Given the description of an element on the screen output the (x, y) to click on. 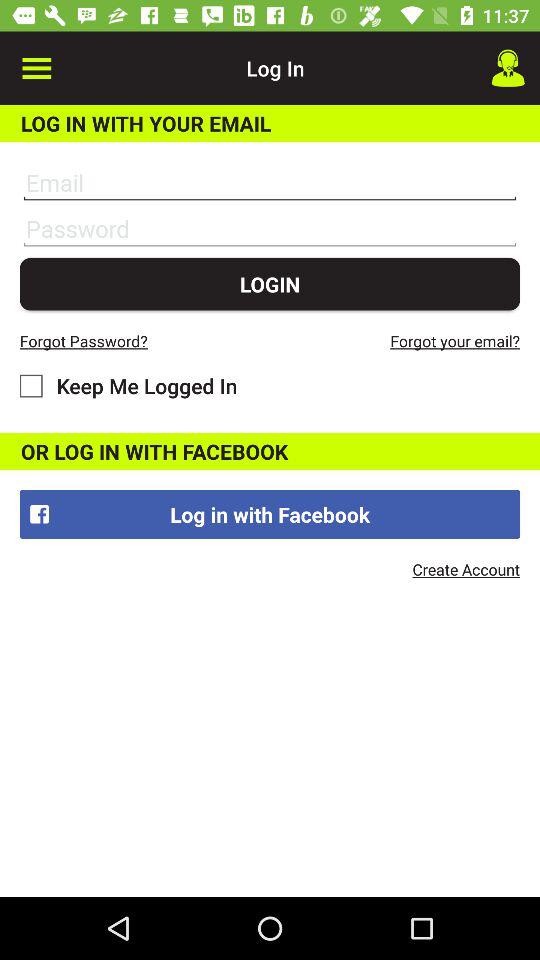
press item at the top left corner (36, 68)
